Given the description of an element on the screen output the (x, y) to click on. 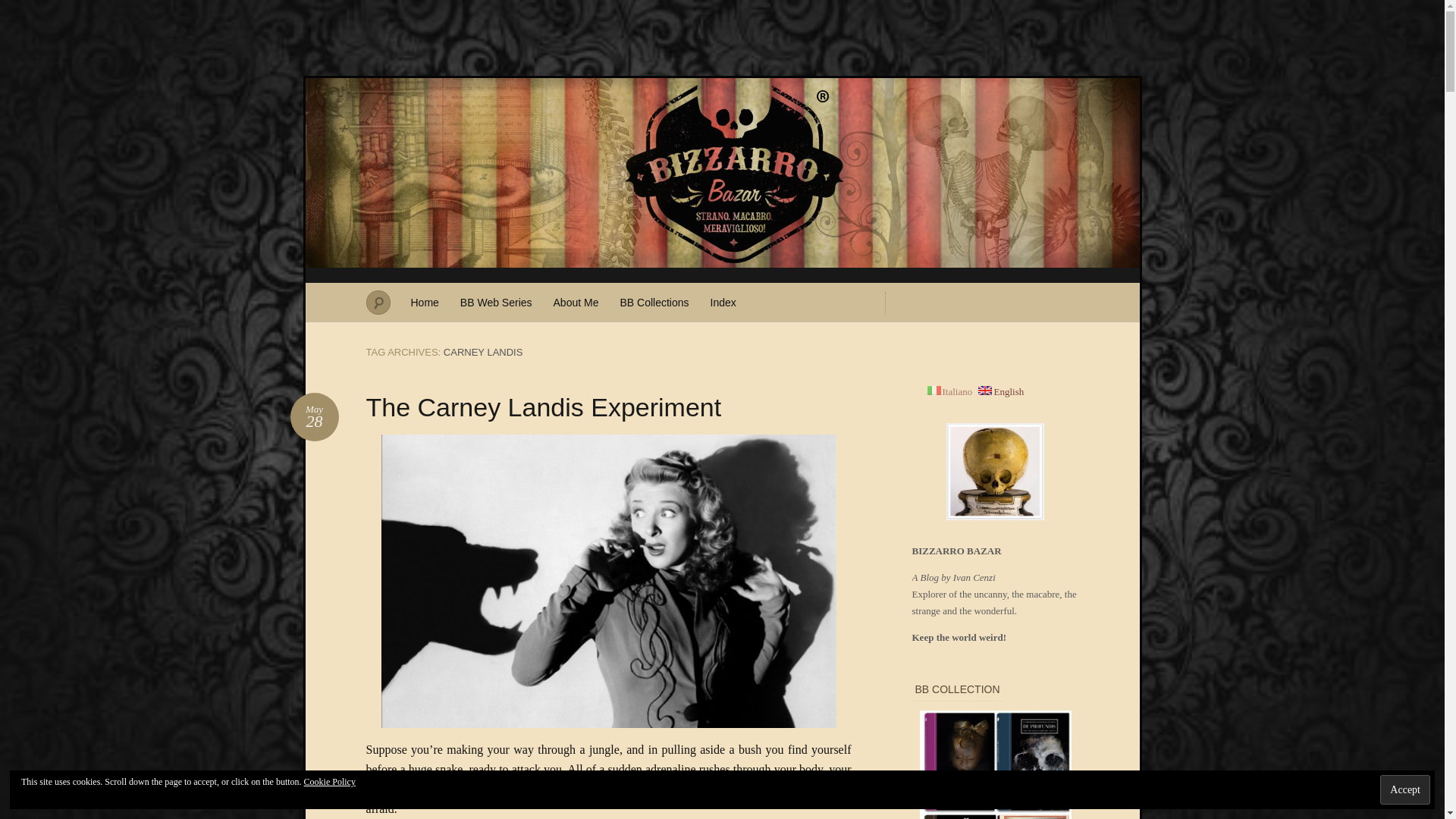
Accept (313, 417)
Index (1404, 789)
May 28 2017 (723, 301)
Search (313, 417)
Home (21, 7)
BB COLLECTION (424, 301)
Bizzarro Bazar (994, 764)
BB Collections (542, 407)
Bizzarro Bazar (653, 301)
BB Web Series (576, 301)
